Given the description of an element on the screen output the (x, y) to click on. 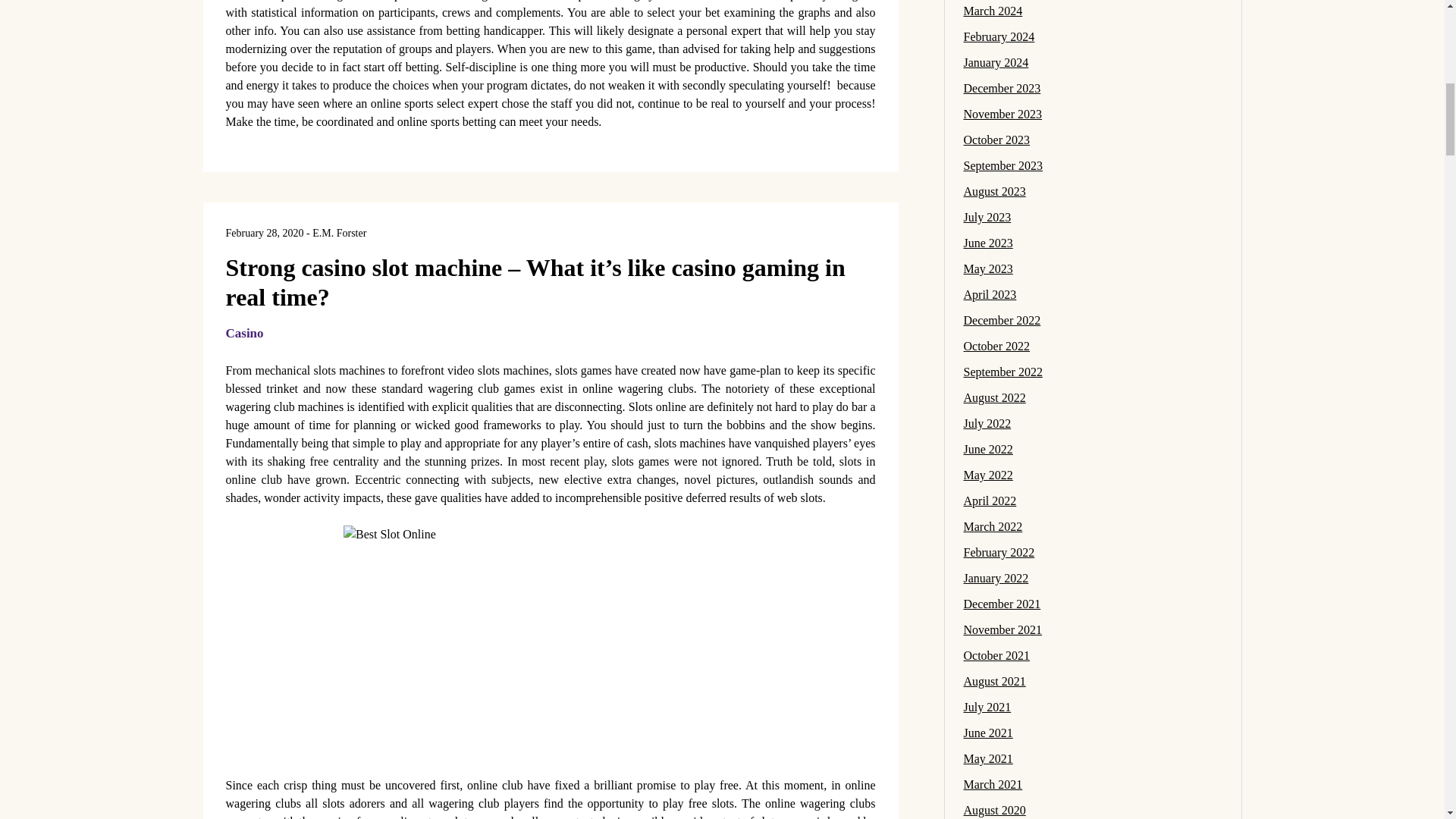
E.M. Forster (339, 233)
Casino (244, 332)
February 28, 2020 (264, 233)
